Given the description of an element on the screen output the (x, y) to click on. 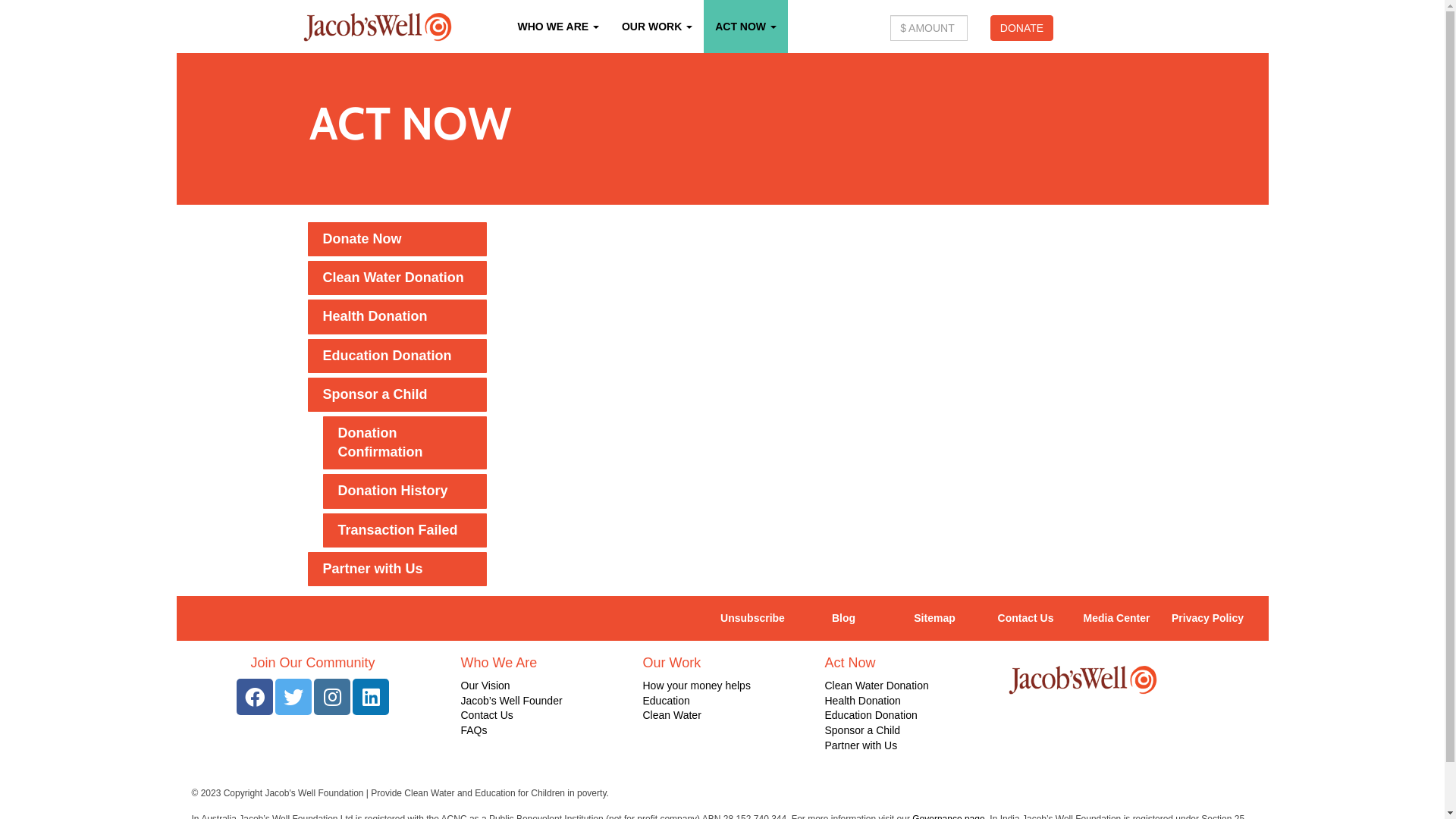
Sponsor a Child Element type: text (862, 730)
Privacy Policy Element type: text (1206, 618)
Donation Confirmation Element type: text (404, 442)
Media Center Element type: text (1115, 618)
Education Element type: text (666, 700)
Health Donation Element type: text (396, 316)
LinkedIn Element type: hover (370, 696)
Clean Water Element type: text (672, 715)
Clean Water Donation Element type: text (876, 685)
Sitemap Element type: text (933, 618)
FAQs Element type: text (474, 730)
OUR WORK Element type: text (656, 26)
Twitter Element type: hover (293, 696)
Contact Us Element type: text (487, 715)
Instagram Element type: hover (331, 696)
Education Donation Element type: text (396, 355)
Contact Us Element type: text (1024, 618)
ACT NOW Element type: text (745, 26)
Unsubscribe Element type: text (751, 618)
Facebook Element type: hover (254, 696)
WHO WE ARE Element type: text (558, 26)
How your money helps Element type: text (696, 685)
Partner with Us Element type: text (861, 745)
Blog Element type: text (842, 618)
Clean Water Donation Element type: text (396, 277)
Our Vision Element type: text (485, 685)
Donation History Element type: text (404, 490)
DONATE Element type: text (1021, 27)
Education Donation Element type: text (871, 715)
Sponsor a Child Element type: text (396, 394)
Transaction Failed Element type: text (404, 530)
Health Donation Element type: text (862, 700)
Partner with Us Element type: text (396, 568)
Donate Now Element type: text (396, 238)
